Given the description of an element on the screen output the (x, y) to click on. 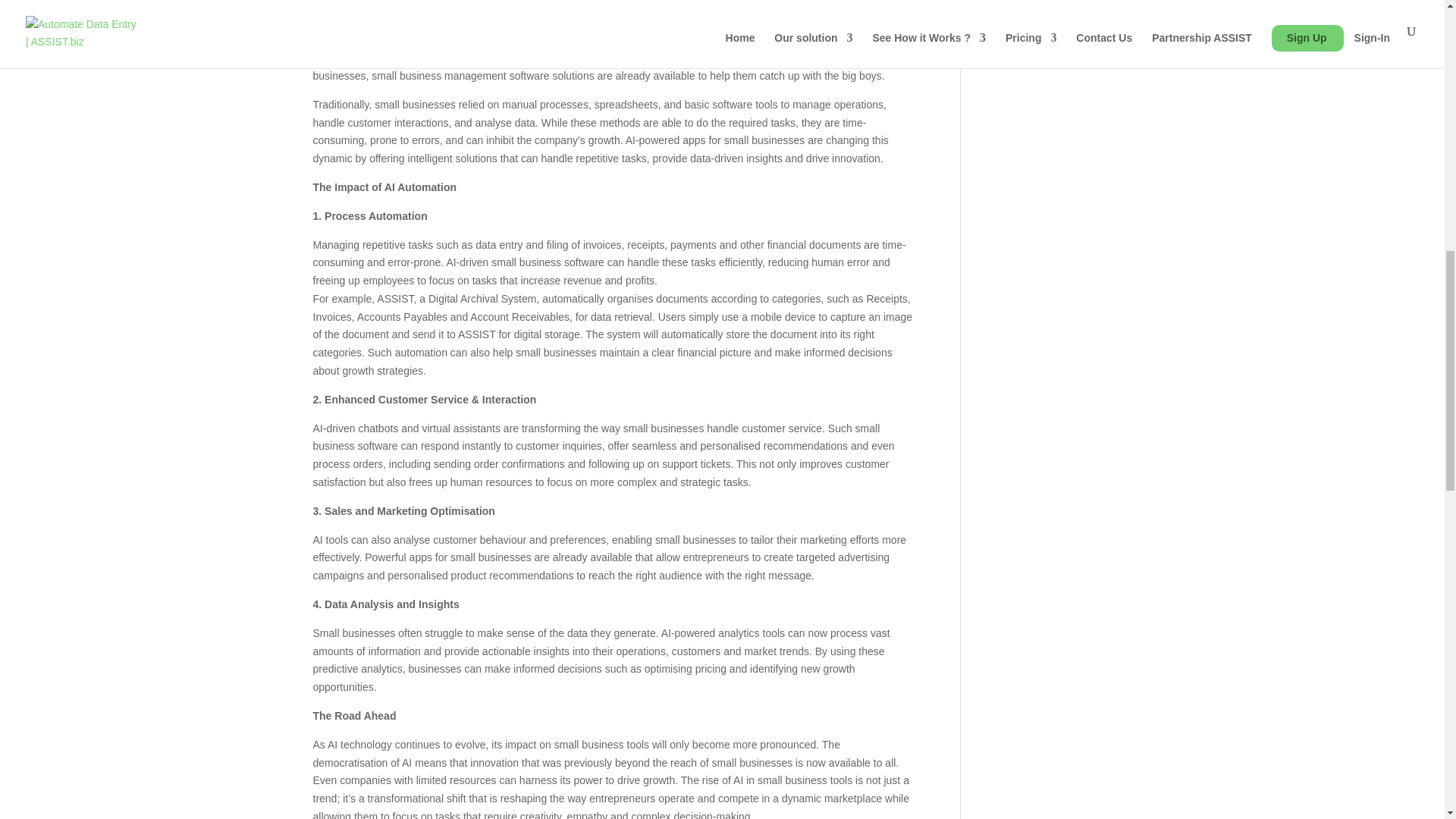
Invoicing (1004, 43)
General (1003, 20)
Bookeeping (1011, 1)
